Given the description of an element on the screen output the (x, y) to click on. 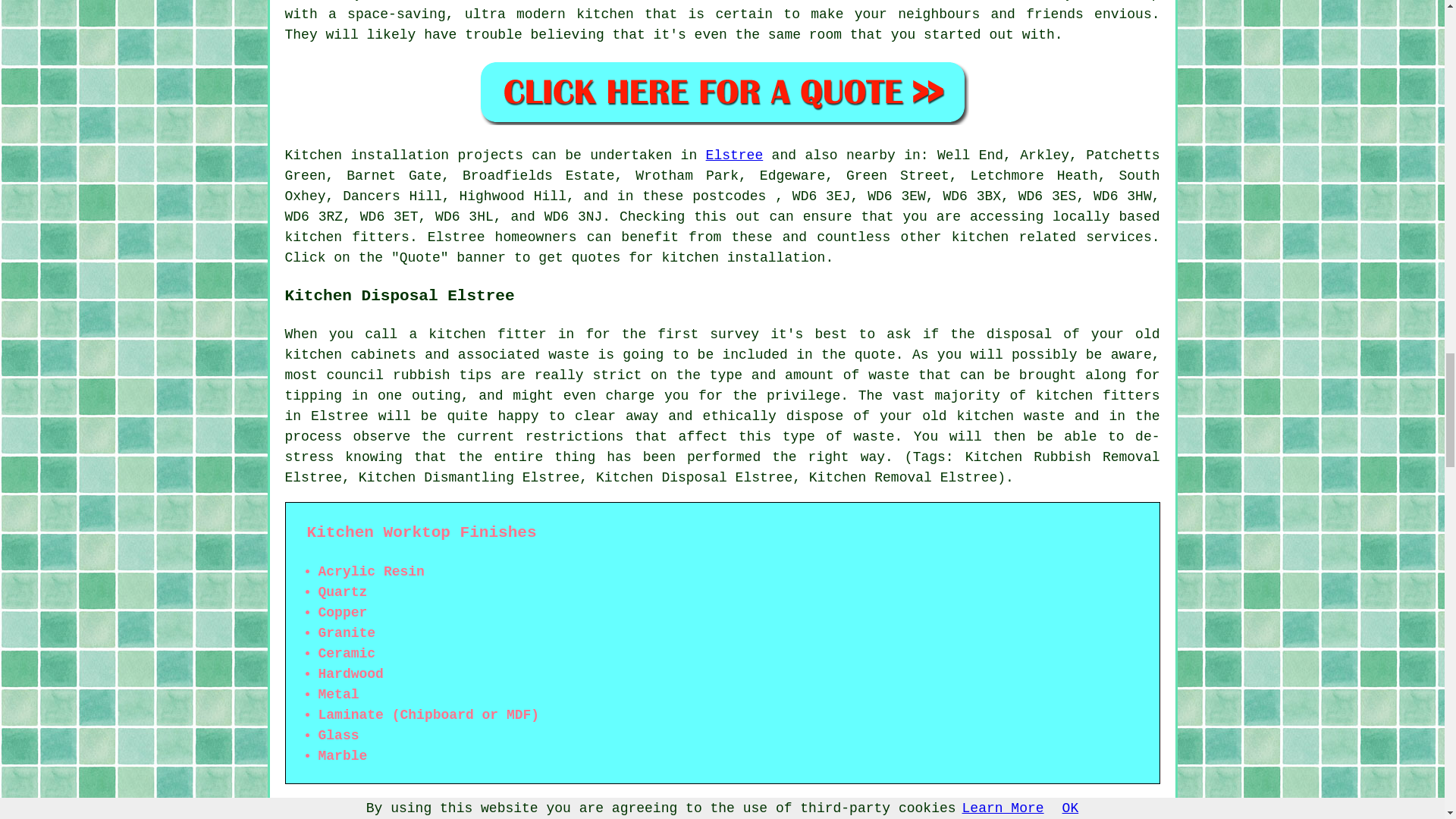
kitchen (493, 0)
